Given the description of an element on the screen output the (x, y) to click on. 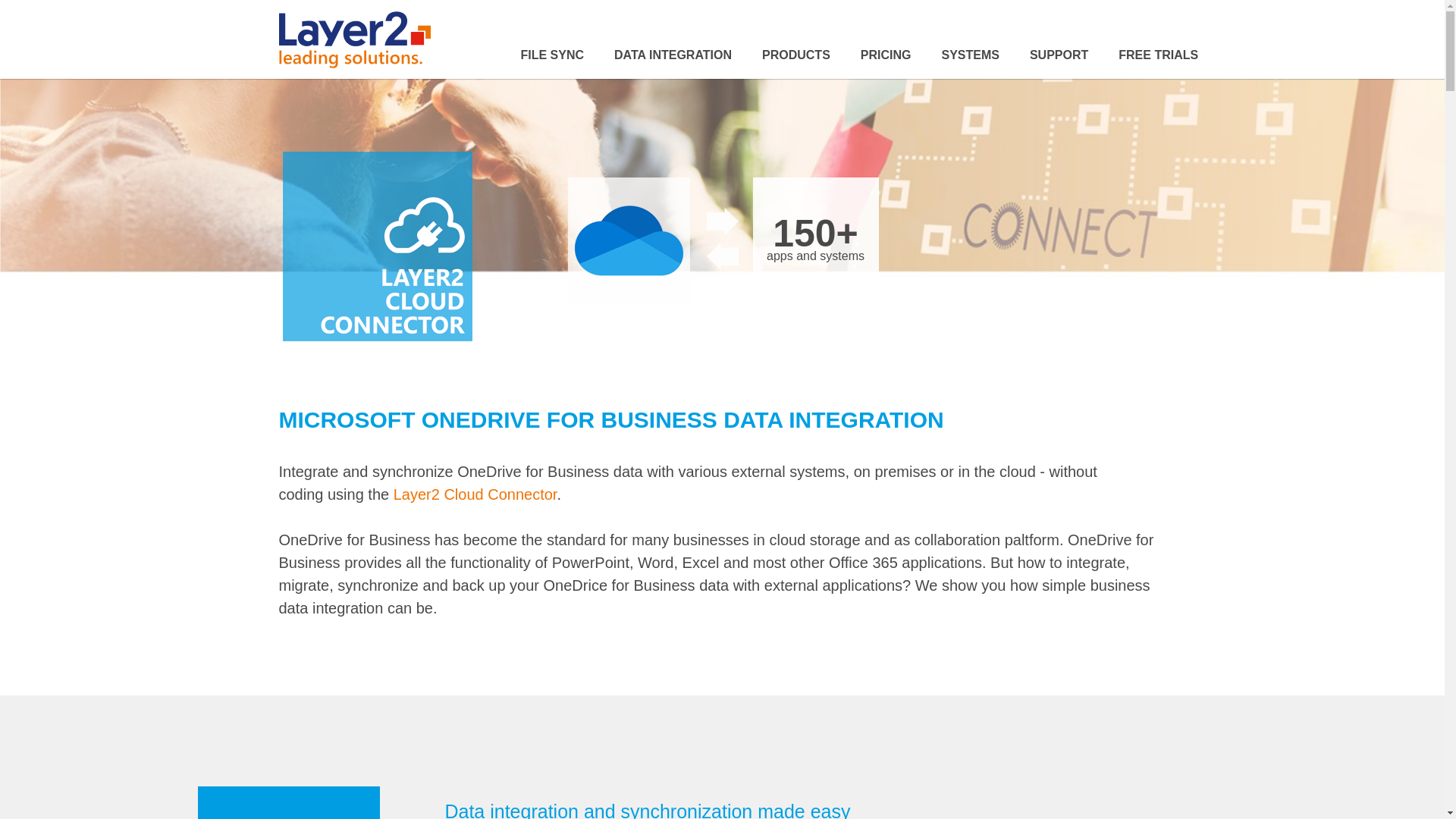
SUPPORT (1058, 54)
Layer2 Cloud Connector Logo (289, 802)
FILE SYNC (558, 54)
FREE TRIALS (1150, 54)
banner-arrow-right (722, 221)
Go to homepage (354, 39)
Layer2 Cloud Connector (475, 494)
Layer2 Cloud Connector Logo for Banner (376, 246)
PRODUCTS (795, 54)
banner-arrow-2-left (722, 256)
SYSTEMS (969, 54)
PRICING (885, 54)
DATA INTEGRATION (672, 54)
